Given the description of an element on the screen output the (x, y) to click on. 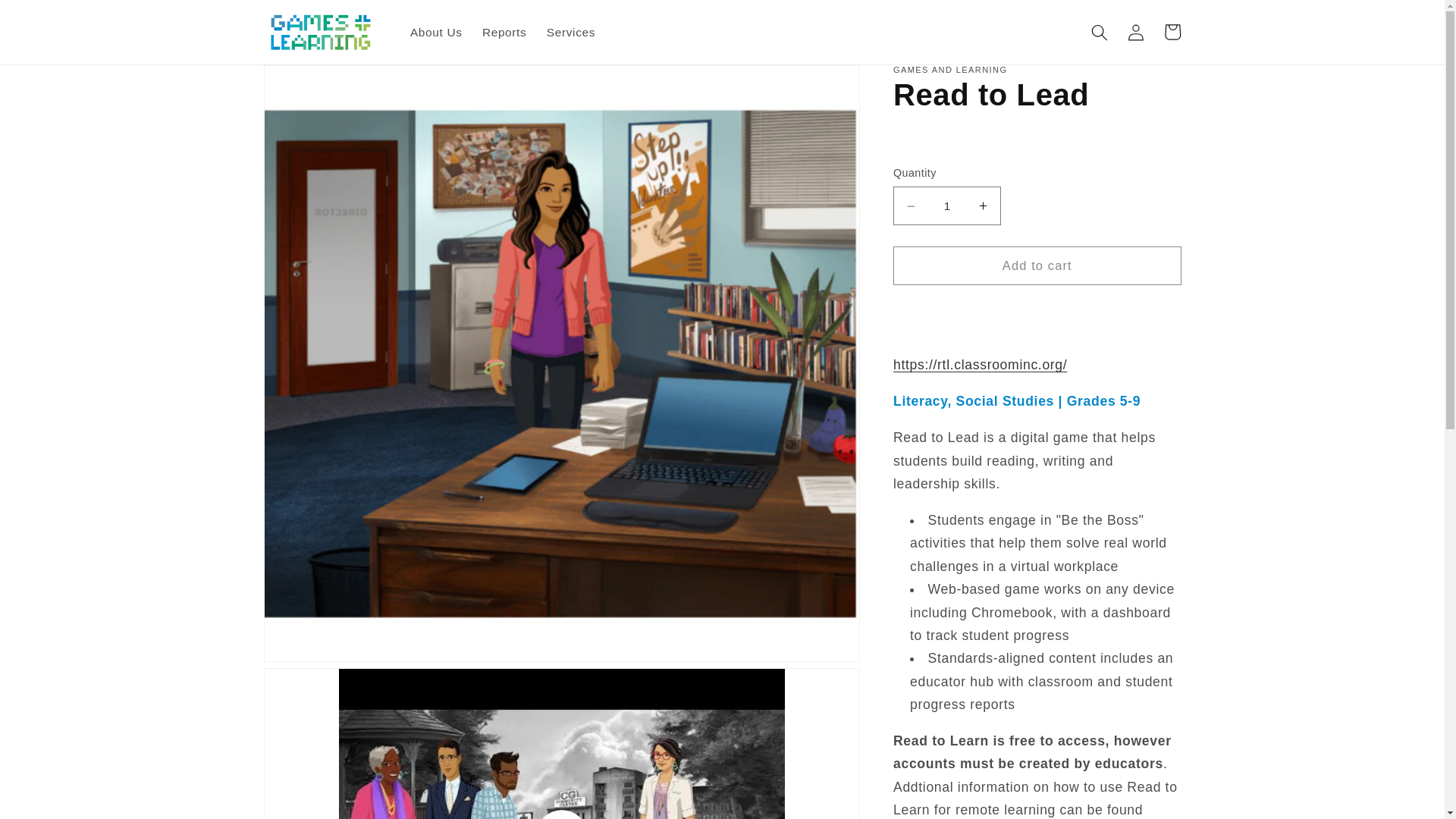
Cart (1172, 31)
Log in (1136, 31)
Read to Lead (980, 364)
Services (571, 32)
1 (947, 206)
Reports (504, 32)
Play video (561, 744)
Add to cart (1036, 265)
Skip to content (50, 19)
About Us (435, 32)
